Given the description of an element on the screen output the (x, y) to click on. 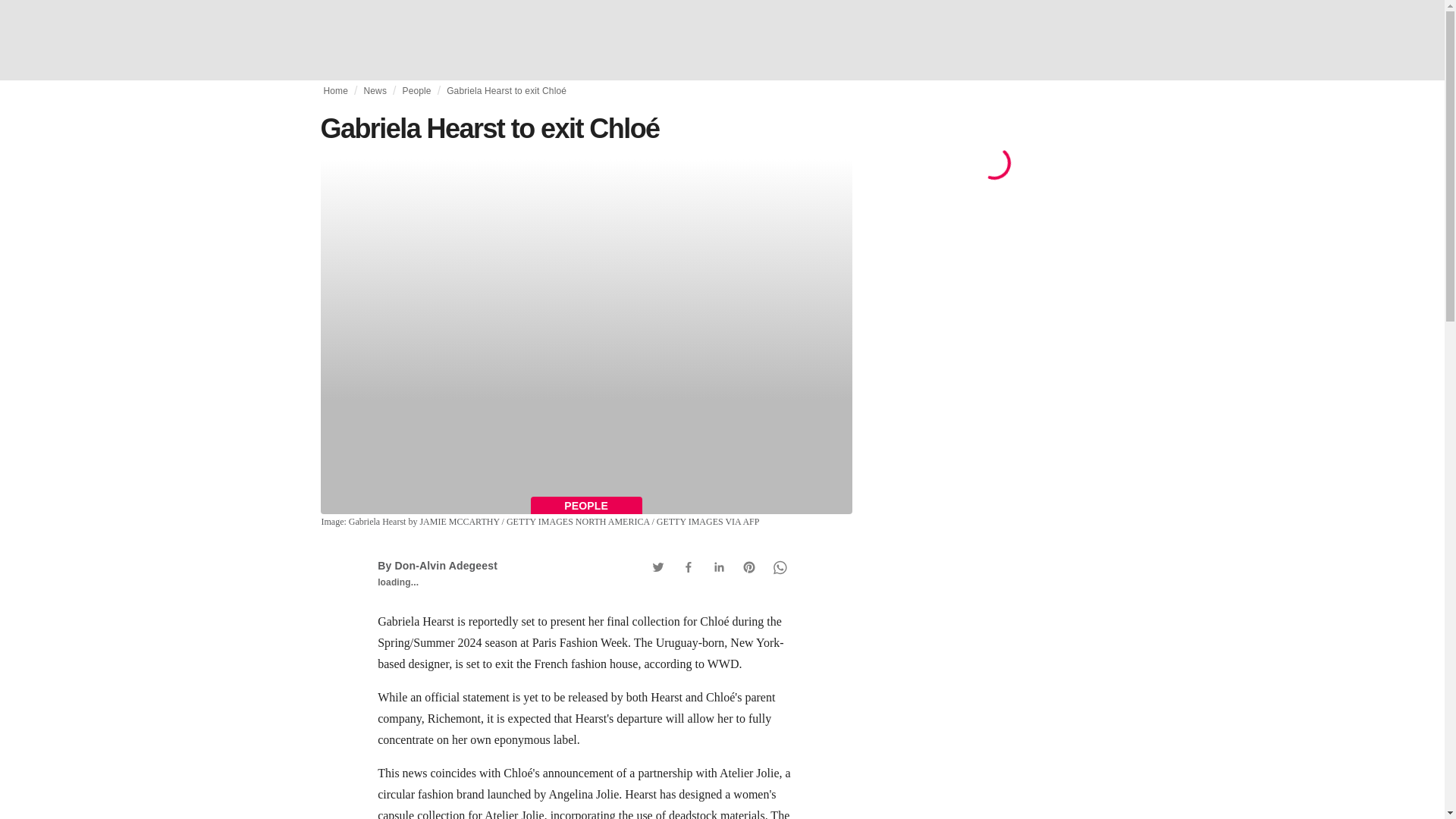
By Don-Alvin Adegeest (437, 565)
News (375, 90)
People (415, 90)
Home (335, 90)
